Given the description of an element on the screen output the (x, y) to click on. 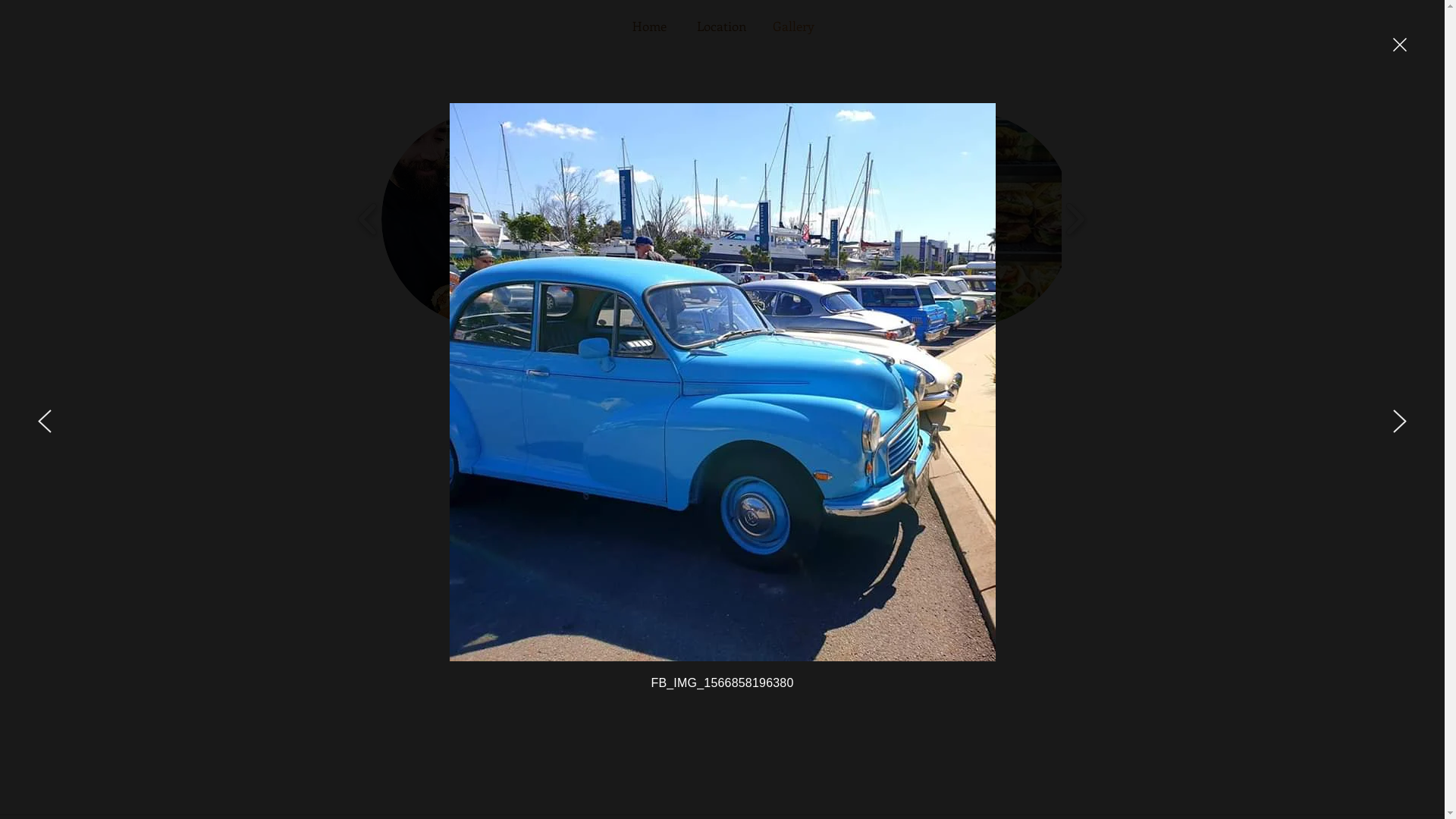
Gallery Element type: text (793, 26)
Home Element type: text (649, 26)
Location Element type: text (721, 26)
